Given the description of an element on the screen output the (x, y) to click on. 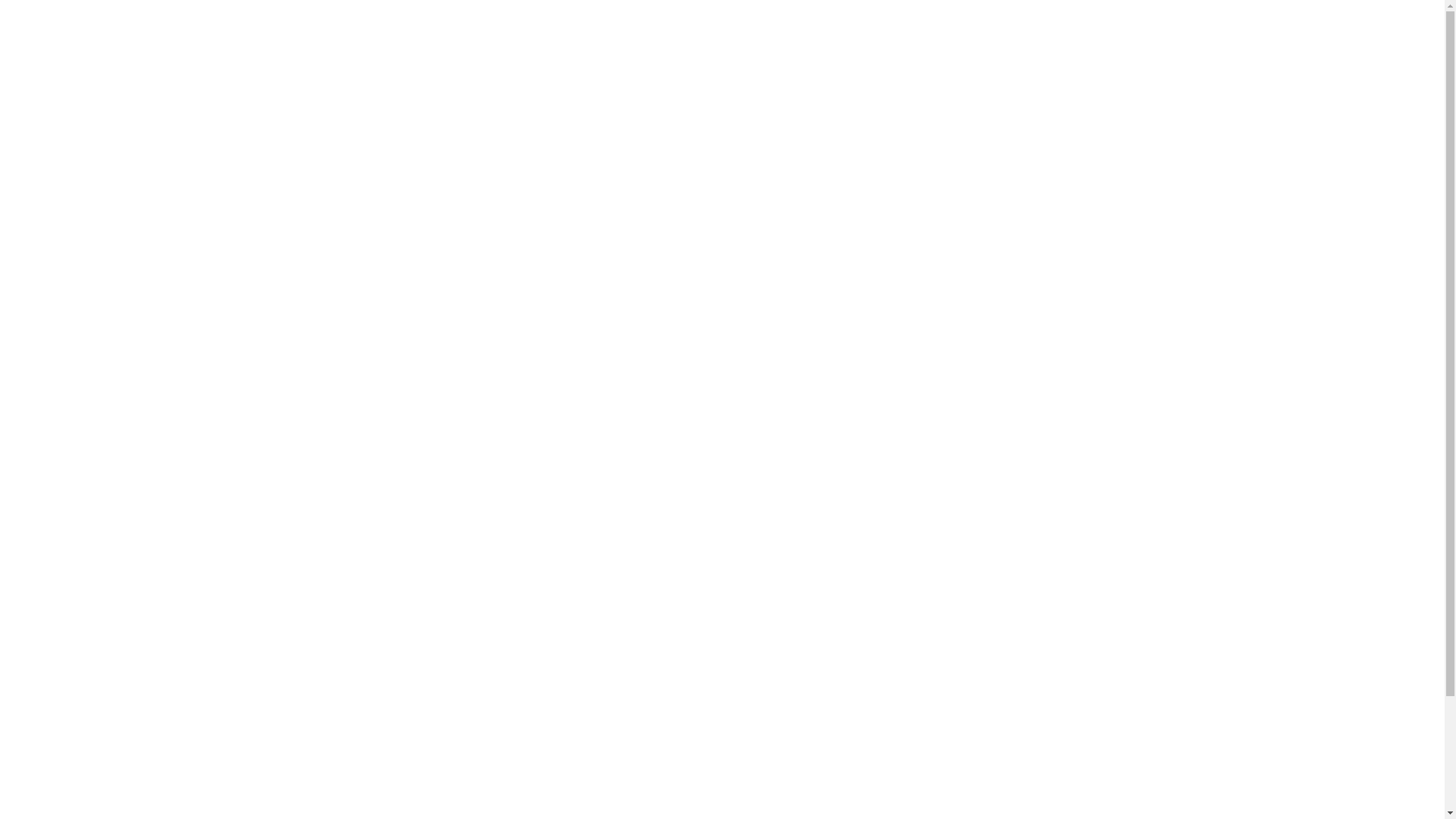
info@continuousmusic.com.au Element type: text (161, 192)
